Given the description of an element on the screen output the (x, y) to click on. 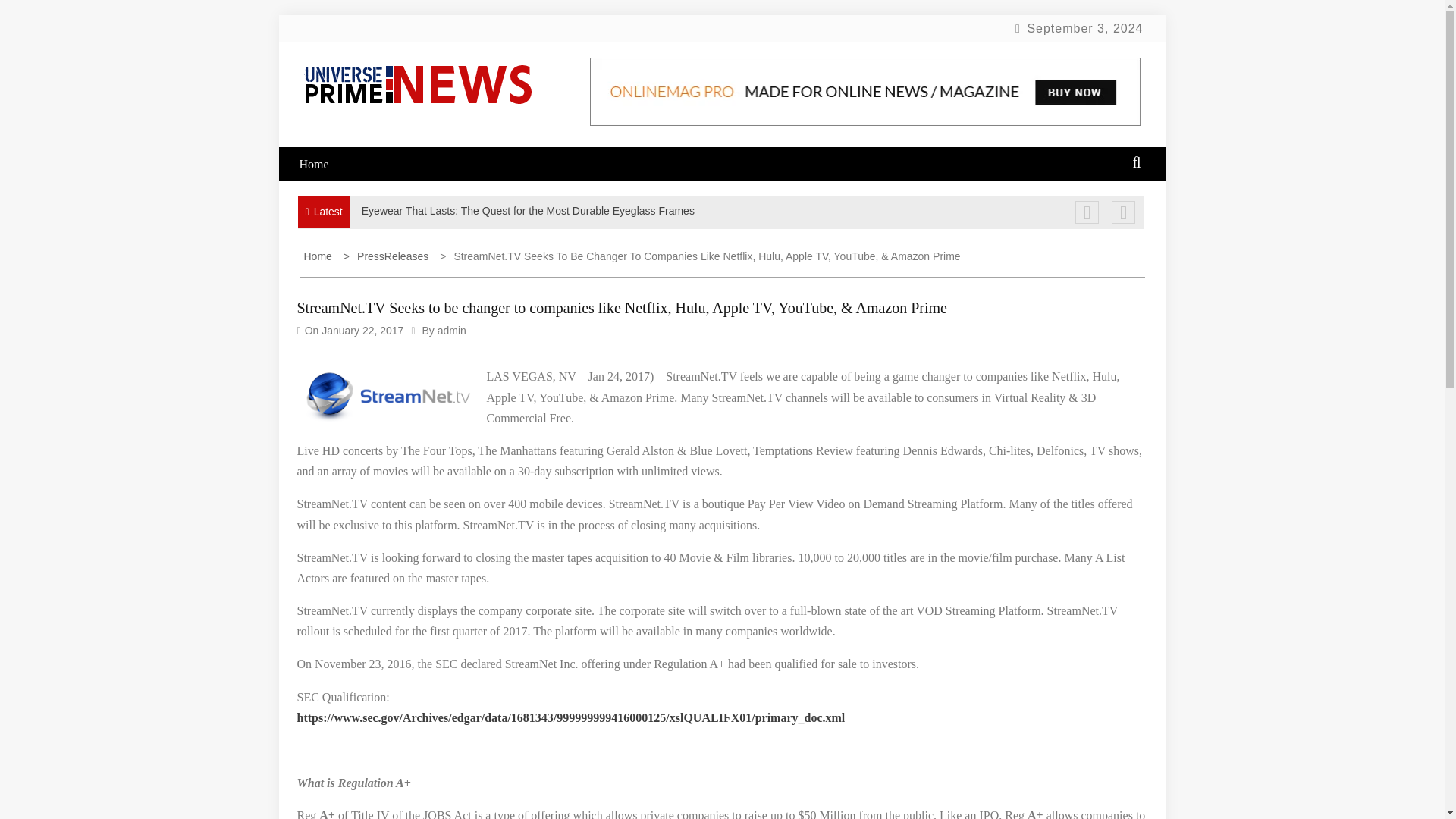
admin (451, 330)
Home (323, 163)
Home (318, 256)
Universe Prime News (415, 151)
PressReleases (387, 256)
January 22, 2017 (362, 330)
